Given the description of an element on the screen output the (x, y) to click on. 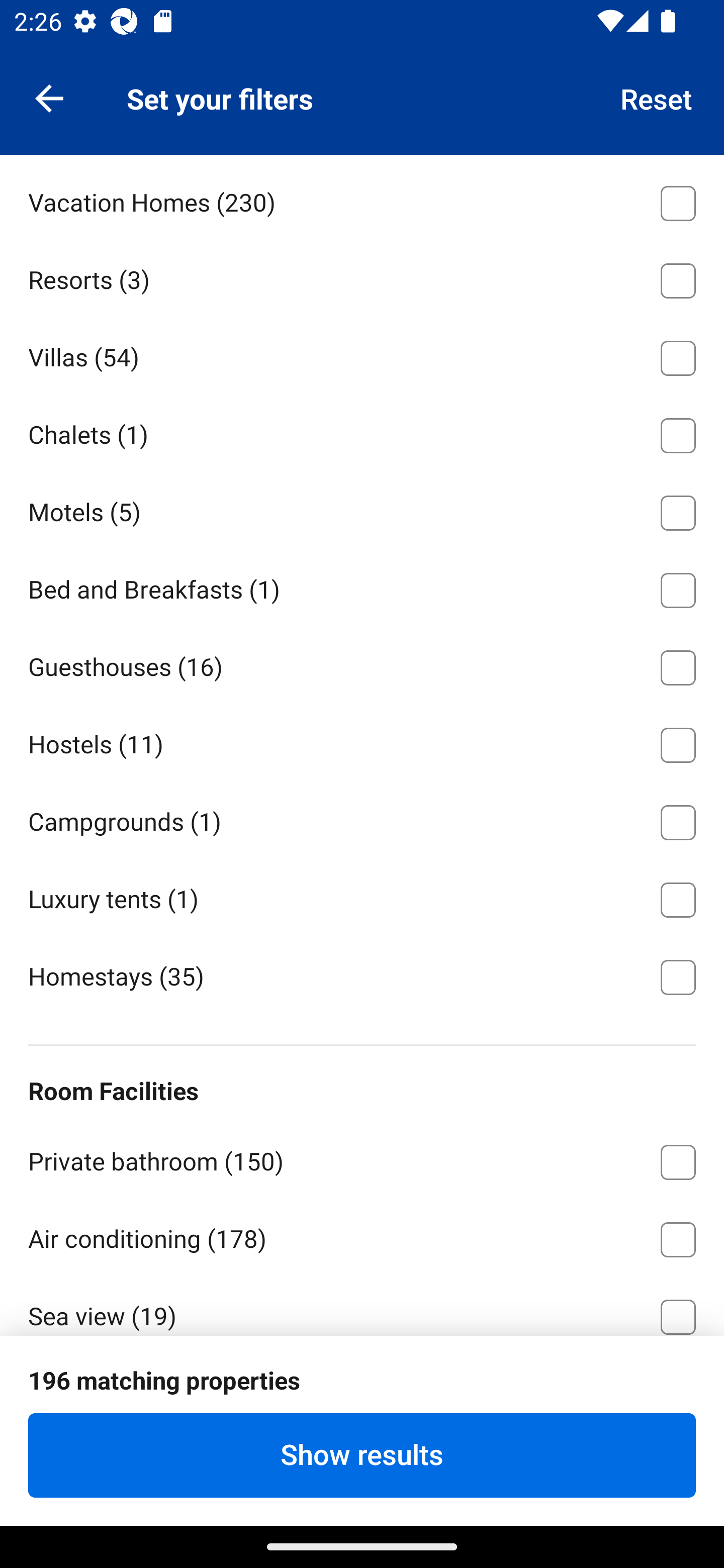
Navigate up (49, 97)
Reset (656, 97)
Vacation Homes ⁦(230) (361, 199)
Resorts ⁦(3) (361, 277)
Villas ⁦(54) (361, 354)
Chalets ⁦(1) (361, 431)
Motels ⁦(5) (361, 509)
Bed and Breakfasts ⁦(1) (361, 586)
Guesthouses ⁦(16) (361, 663)
Hostels ⁦(11) (361, 741)
Campgrounds ⁦(1) (361, 818)
Luxury tents ⁦(1) (361, 895)
Homestays ⁦(35) (361, 975)
Private bathroom ⁦(150) (361, 1158)
Air conditioning ⁦(178) (361, 1235)
Sea view ⁦(19) (361, 1304)
Balcony ⁦(56) (361, 1390)
Show results (361, 1454)
